Given the description of an element on the screen output the (x, y) to click on. 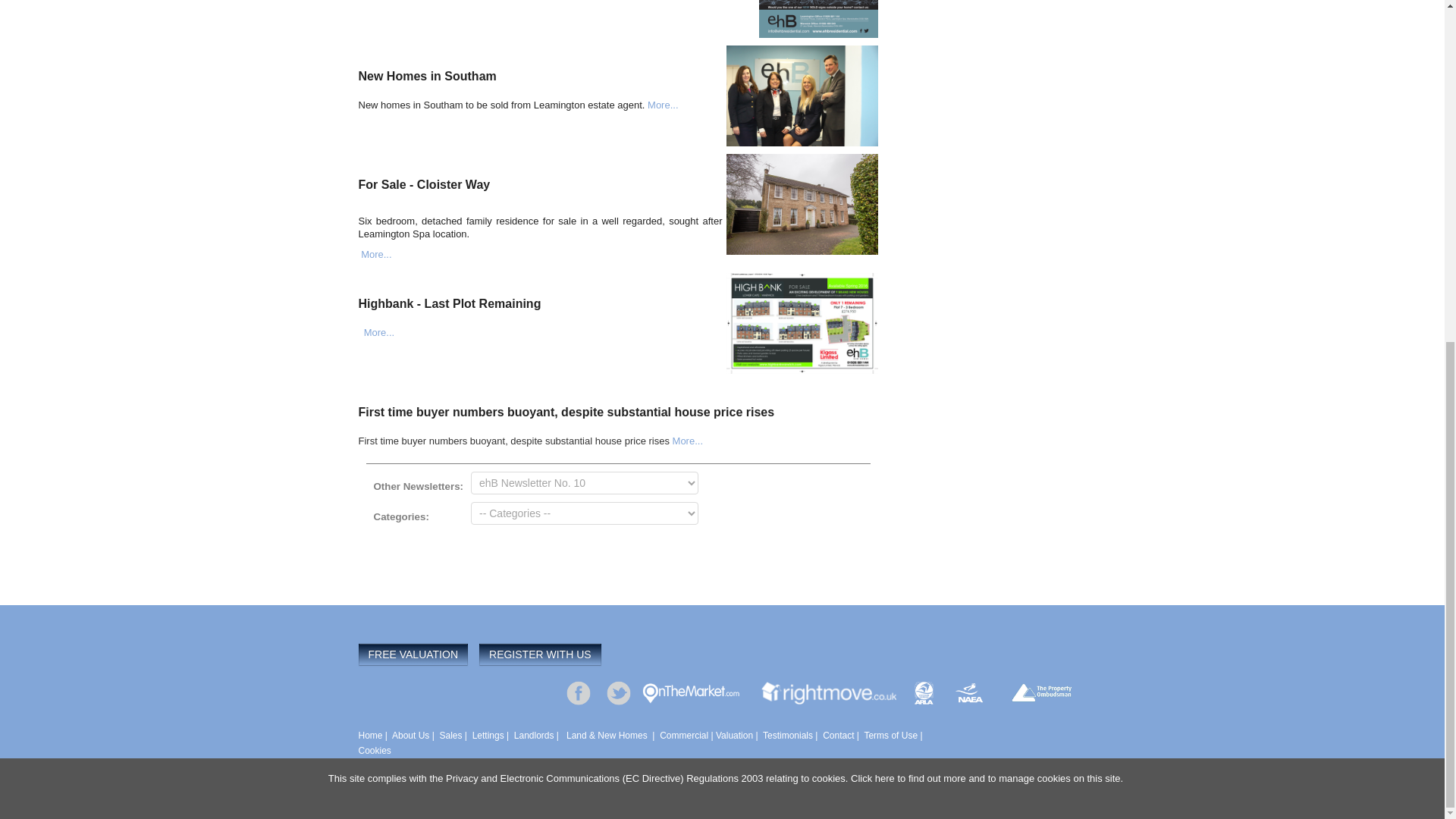
More... (662, 104)
Sales (450, 735)
Commercial (683, 735)
Home page (369, 735)
For Sale - Cloister Way (423, 184)
New Homes in Southam (427, 75)
Twitter (618, 692)
Lettings (487, 735)
About us (410, 735)
Landlords (533, 735)
More... (376, 254)
Valuation Request (734, 735)
Highbank - Last Plot Remaining (449, 303)
Like our Facebook page (578, 692)
